Given the description of an element on the screen output the (x, y) to click on. 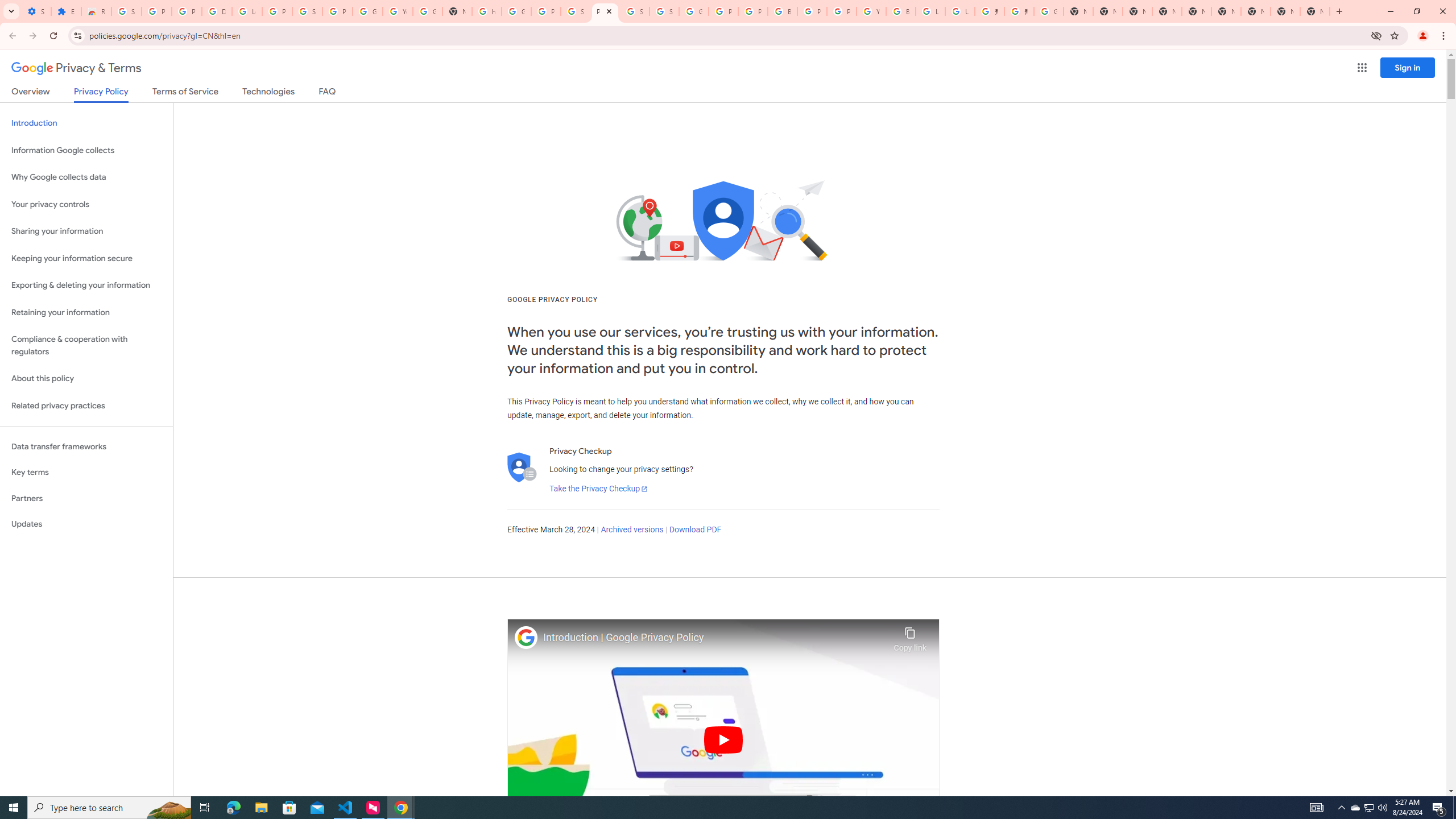
New Tab (1166, 11)
Privacy Help Center - Policies Help (753, 11)
